Given the description of an element on the screen output the (x, y) to click on. 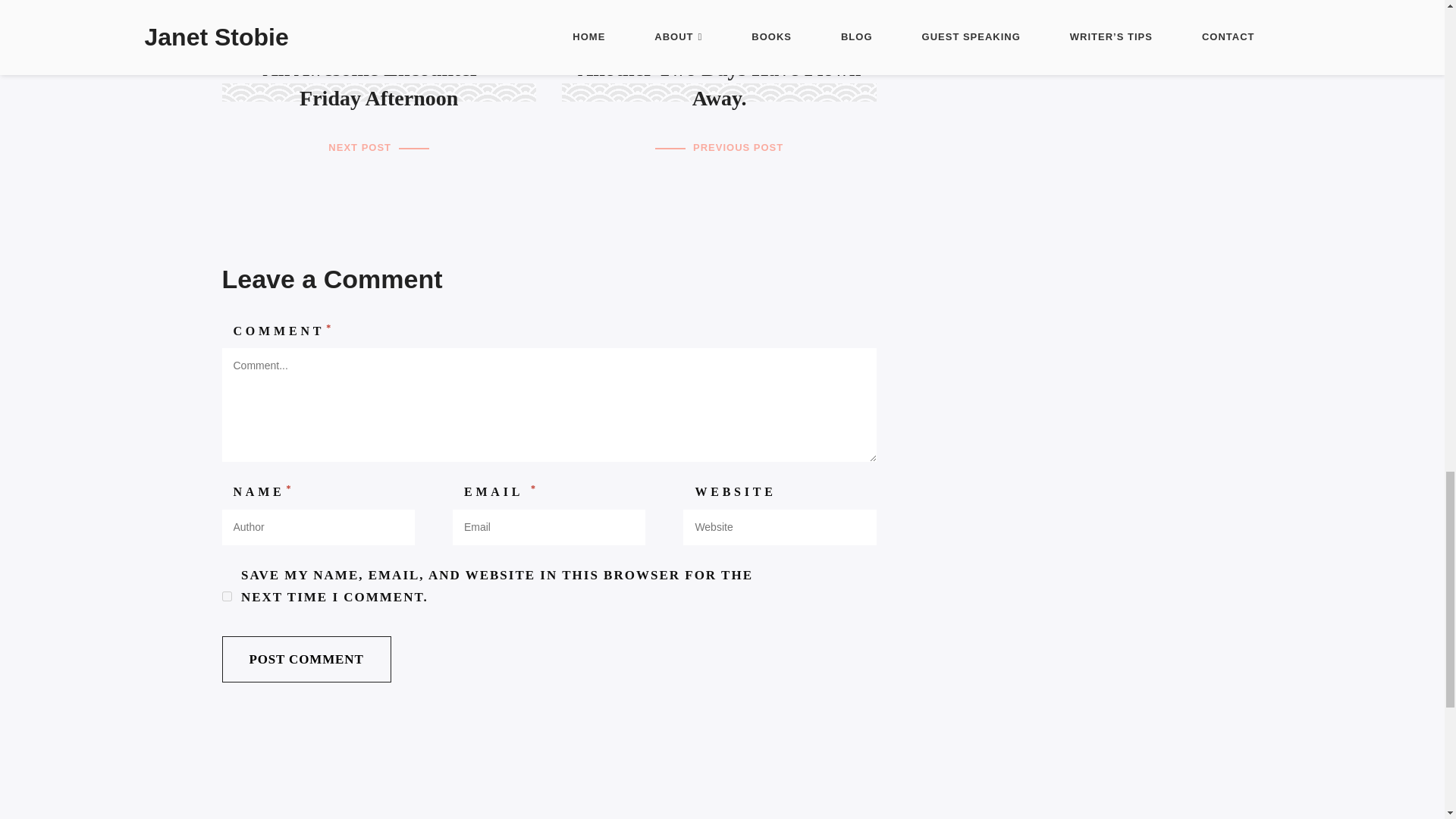
Post Comment (305, 659)
yes (226, 596)
Post Comment (305, 659)
